Given the description of an element on the screen output the (x, y) to click on. 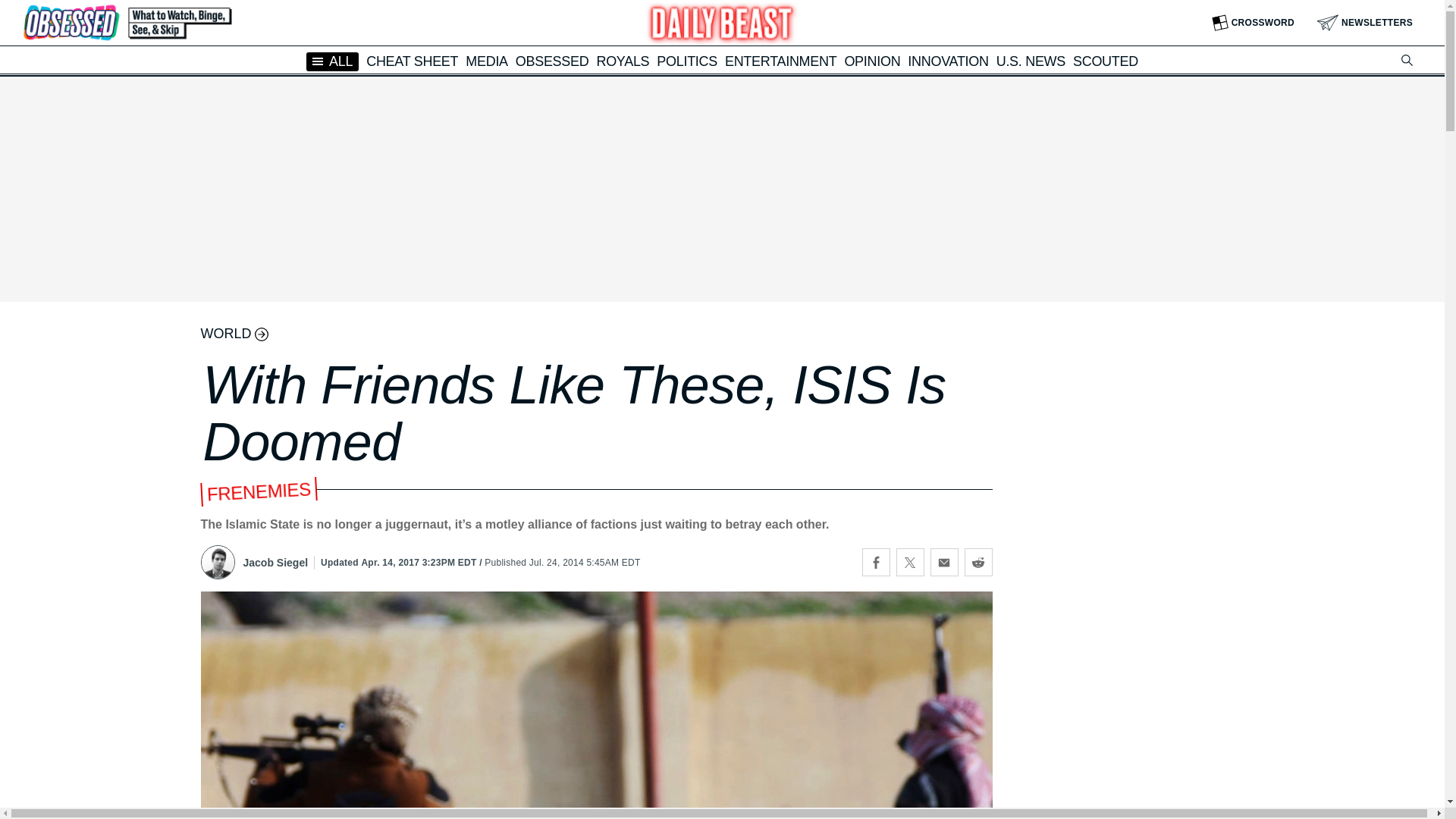
ENTERTAINMENT (780, 60)
CROSSWORD (1252, 22)
ROYALS (622, 60)
POLITICS (686, 60)
MEDIA (486, 60)
ALL (331, 60)
INNOVATION (947, 60)
OBSESSED (552, 60)
CHEAT SHEET (412, 60)
SCOUTED (1105, 60)
